Given the description of an element on the screen output the (x, y) to click on. 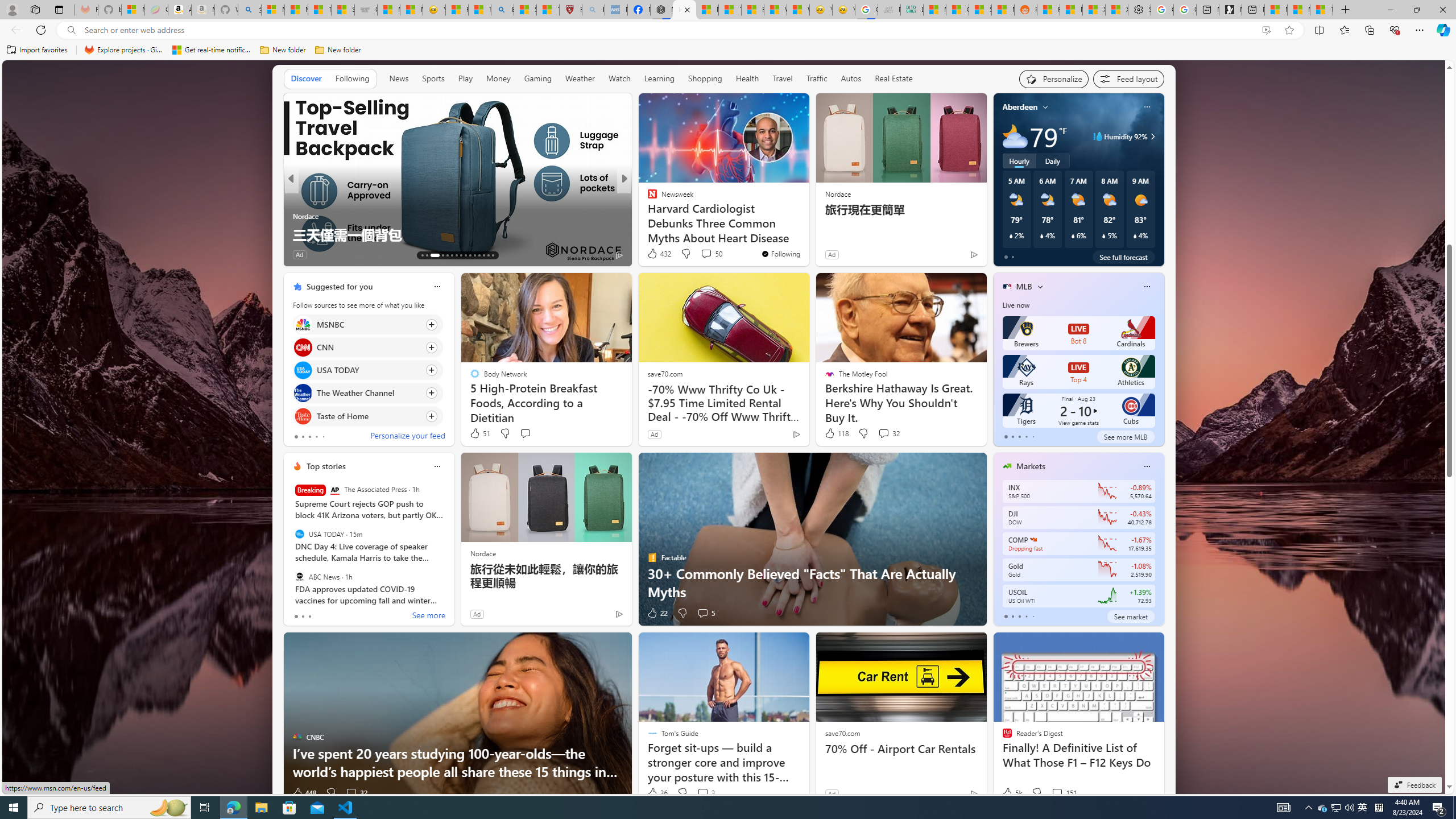
View comments 151 Comment (1056, 792)
The Weather Channel (302, 393)
Click to follow source Taste of Home (367, 415)
Health (746, 79)
AutomationID: tab-66 (422, 255)
